Given the description of an element on the screen output the (x, y) to click on. 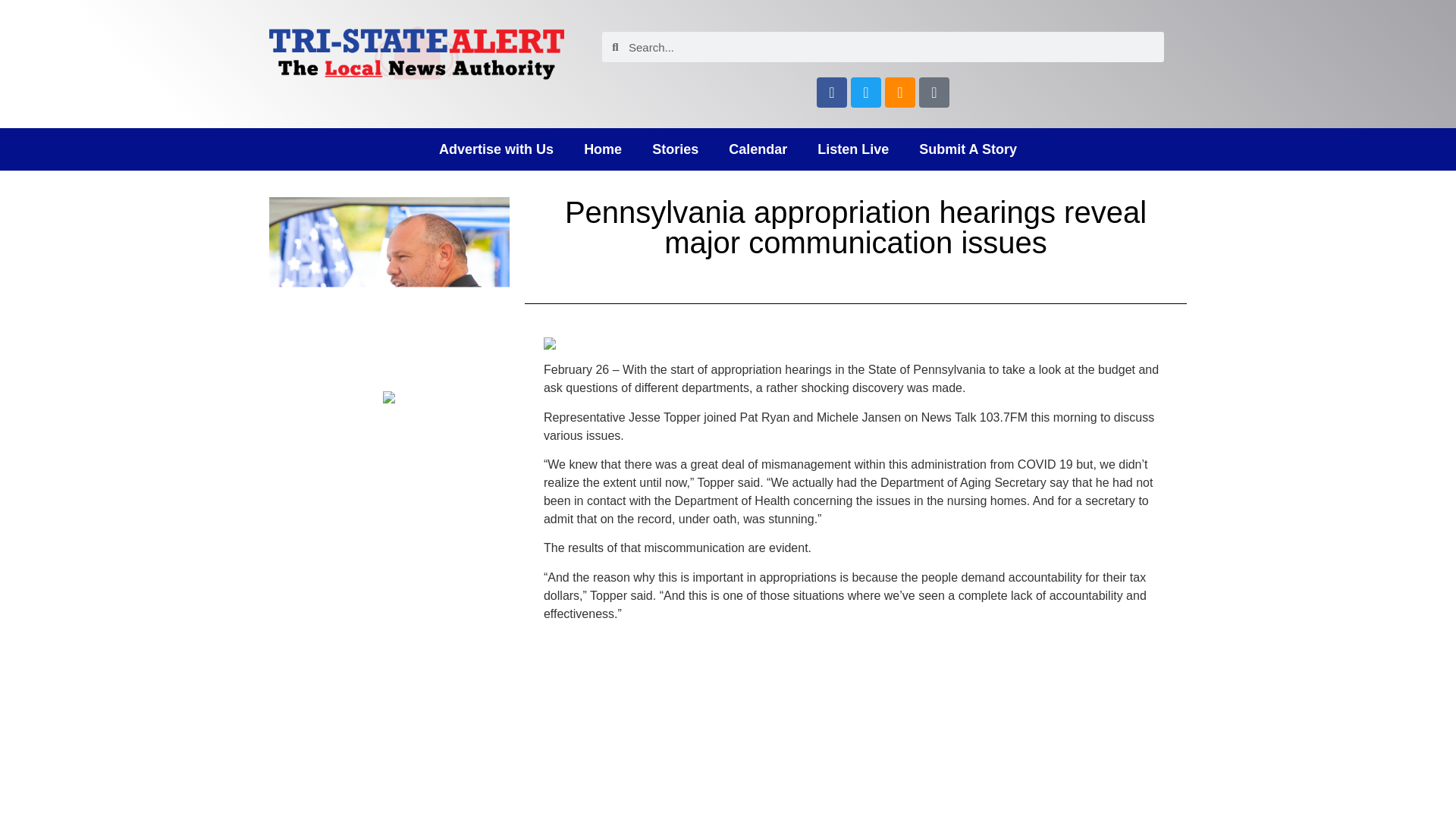
Home (603, 148)
Calendar (757, 148)
Stories (675, 148)
Submit A Story (968, 148)
Listen Live (853, 148)
Advertise with Us (496, 148)
